Given the description of an element on the screen output the (x, y) to click on. 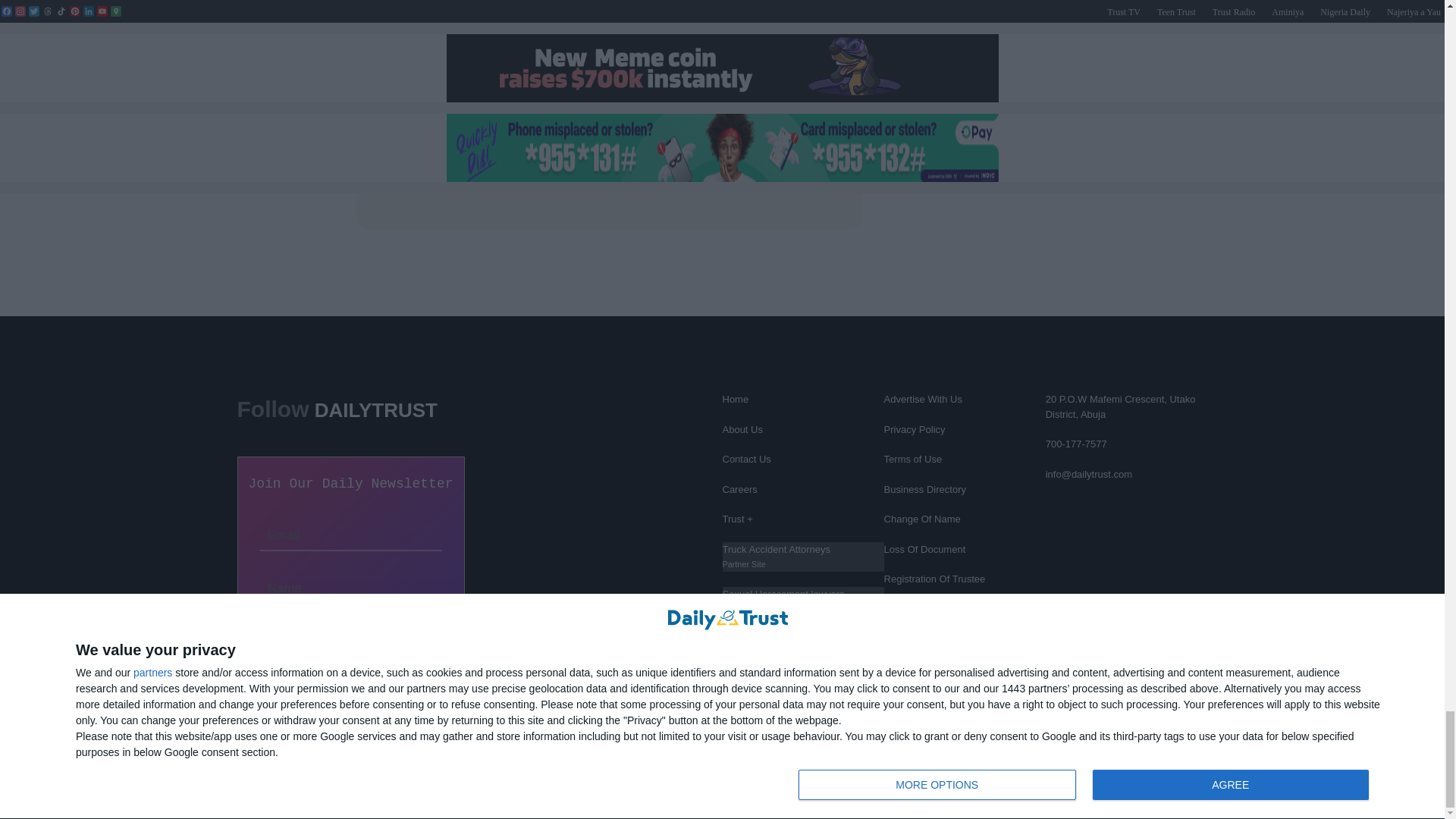
Join Now (350, 634)
